Given the description of an element on the screen output the (x, y) to click on. 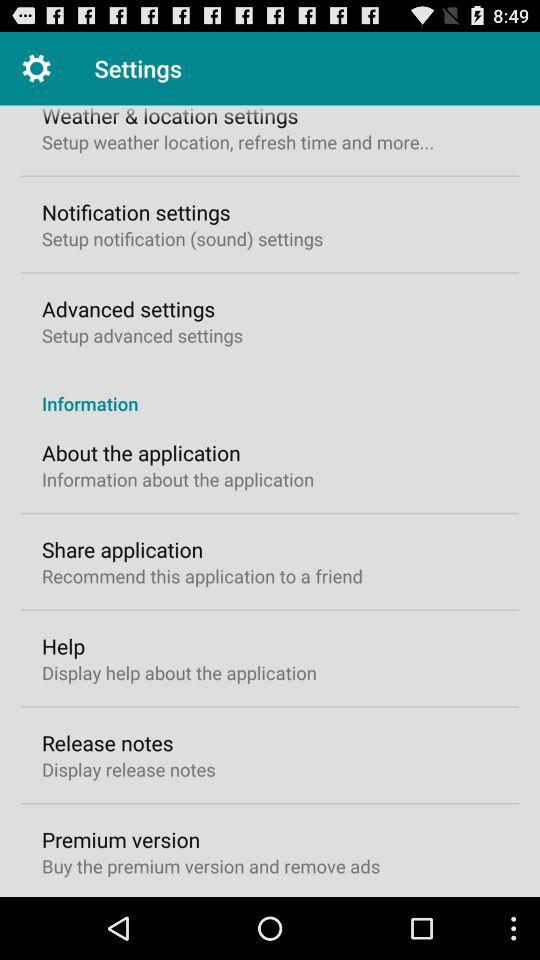
turn off icon below the information about the icon (122, 549)
